Given the description of an element on the screen output the (x, y) to click on. 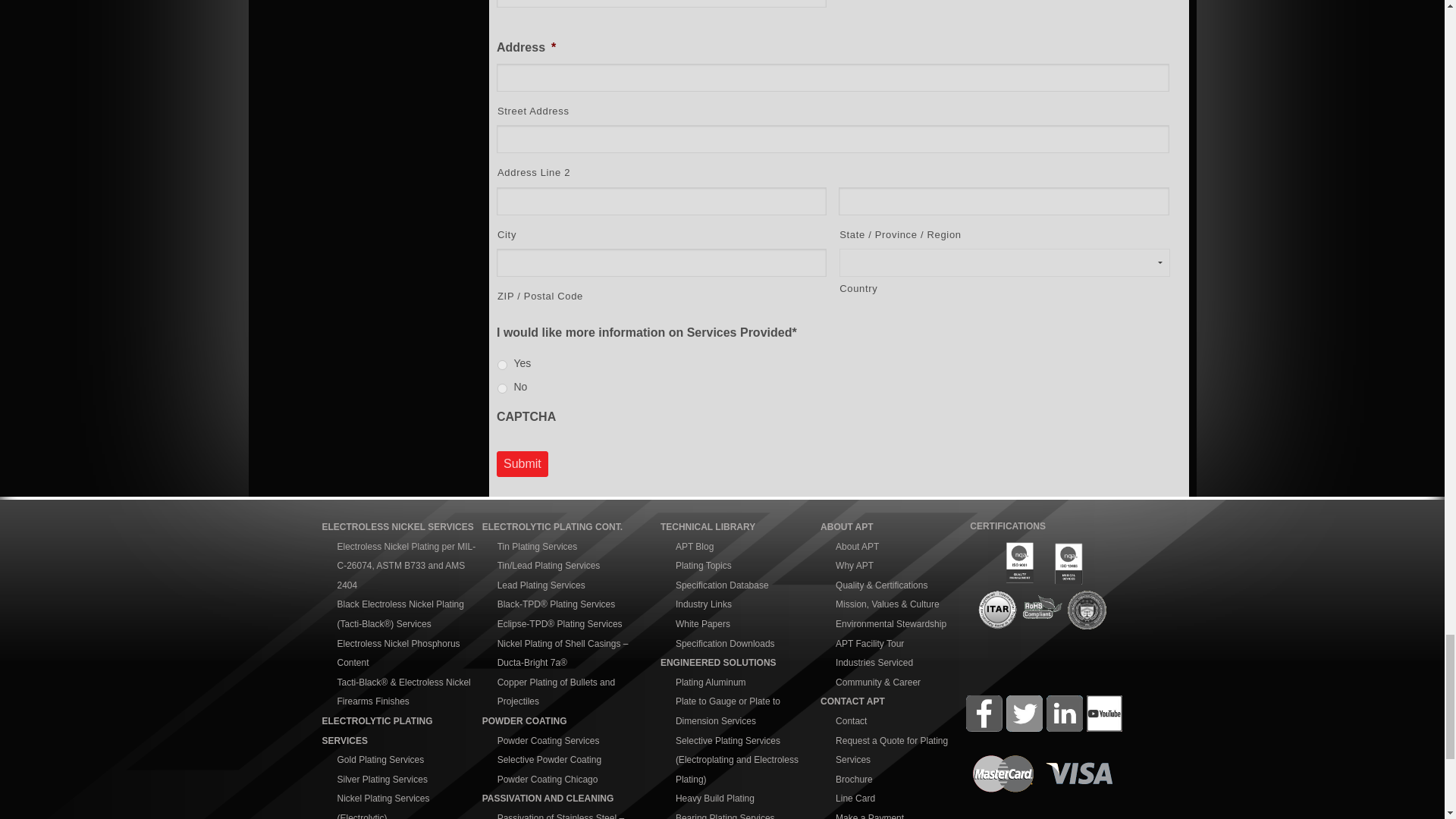
Submit (522, 463)
No (501, 388)
Yes (501, 365)
